Given the description of an element on the screen output the (x, y) to click on. 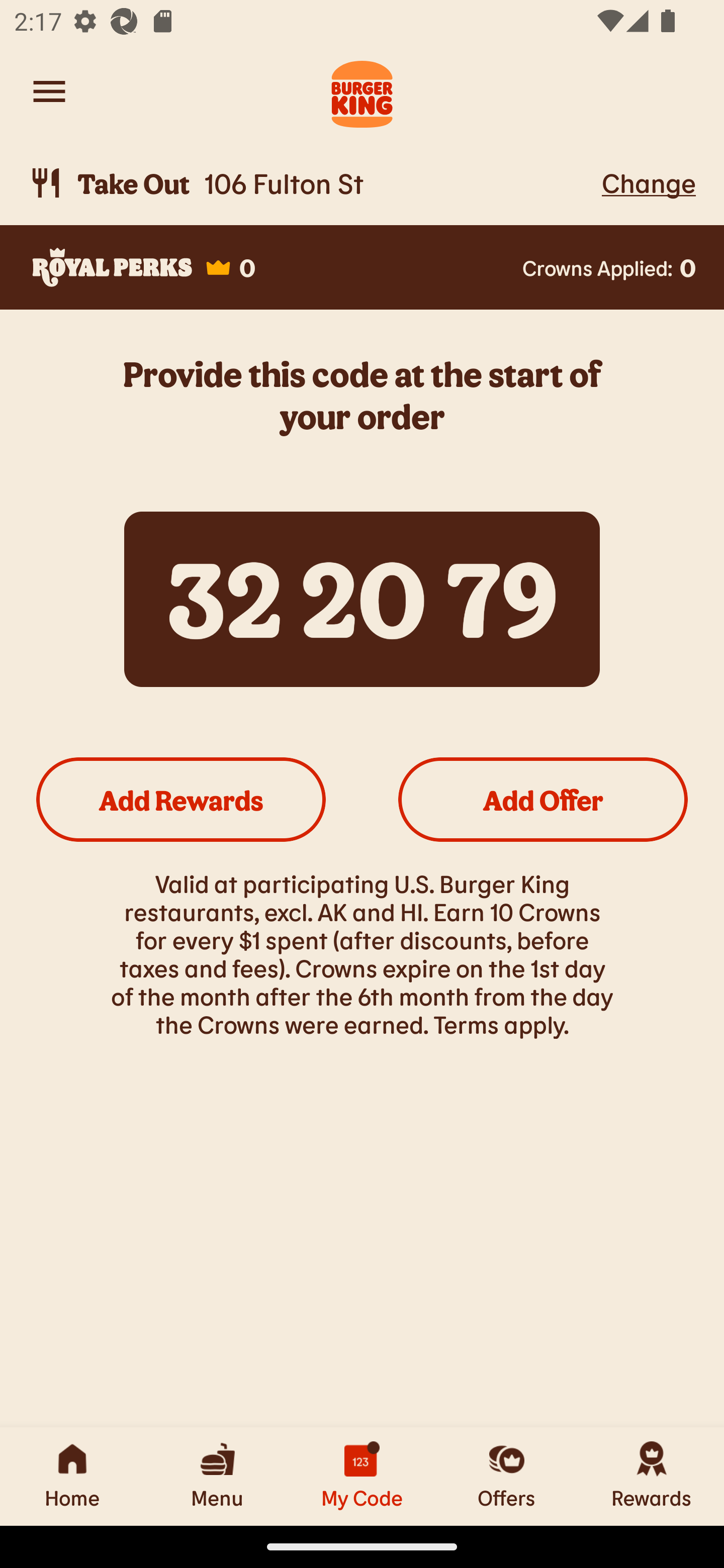
Burger King Logo. Navigate to Home (362, 91)
Navigate to account menu  (49, 91)
Take Out, 106 Fulton St  Take Out 106 Fulton St (311, 183)
Change (648, 182)
Add Rewards (180, 799)
Add Offer (542, 799)
Home (72, 1475)
Menu (216, 1475)
My Code (361, 1475)
Offers (506, 1475)
Rewards (651, 1475)
